Given the description of an element on the screen output the (x, y) to click on. 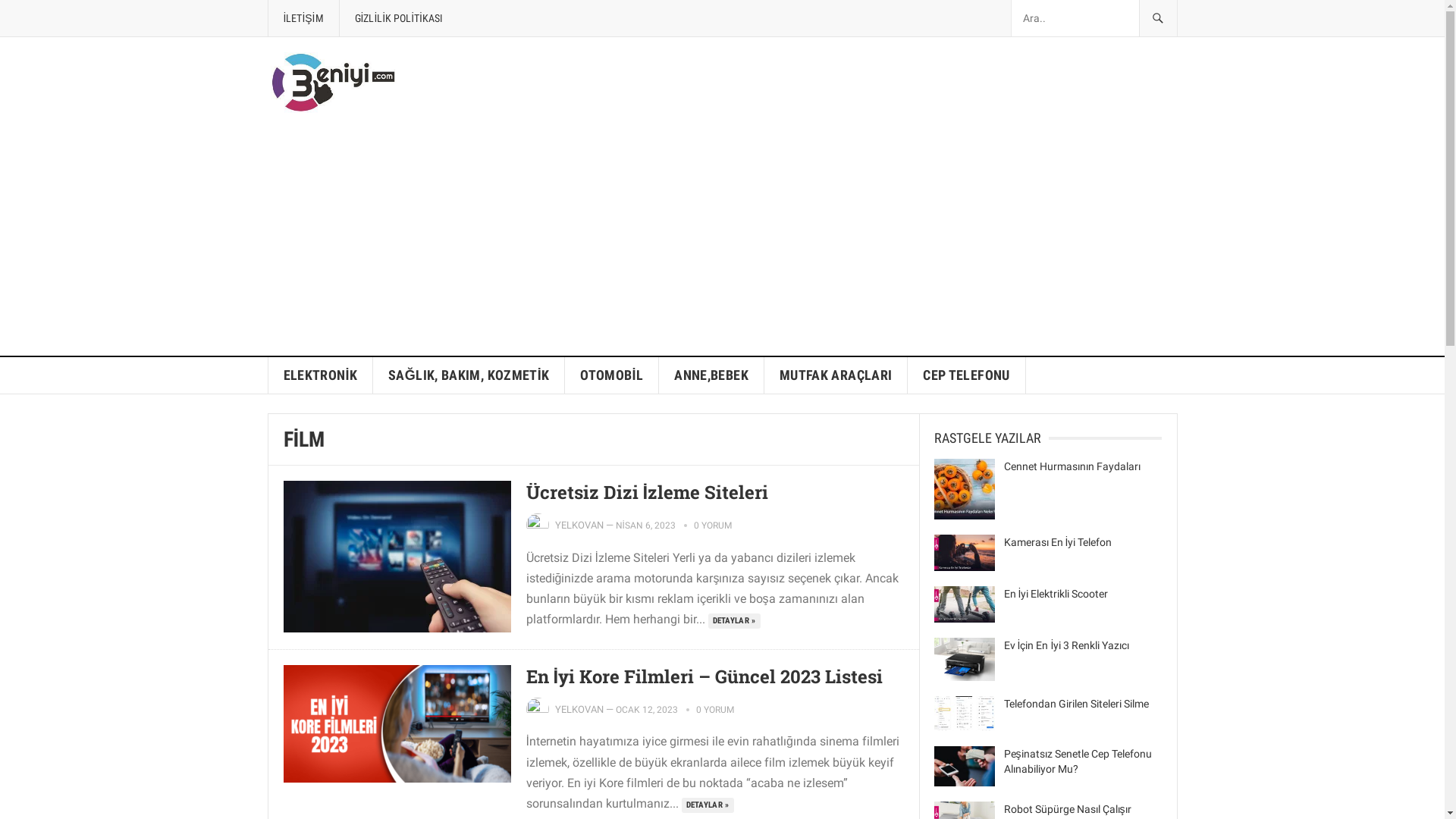
GIZLILIK POLITIKASI Element type: text (398, 18)
OTOMOBIL Element type: text (611, 375)
ANNE,BEBEK Element type: text (711, 375)
0 YORUM Element type: text (712, 525)
YELKOVAN Element type: text (579, 524)
YELKOVAN Element type: text (579, 709)
Advertisement Element type: hover (721, 241)
CEP TELEFONU Element type: text (966, 375)
Telefondan Girilen Siteleri Silme Element type: text (1076, 703)
0 YORUM Element type: text (715, 709)
ELEKTRONIK Element type: text (320, 375)
